Given the description of an element on the screen output the (x, y) to click on. 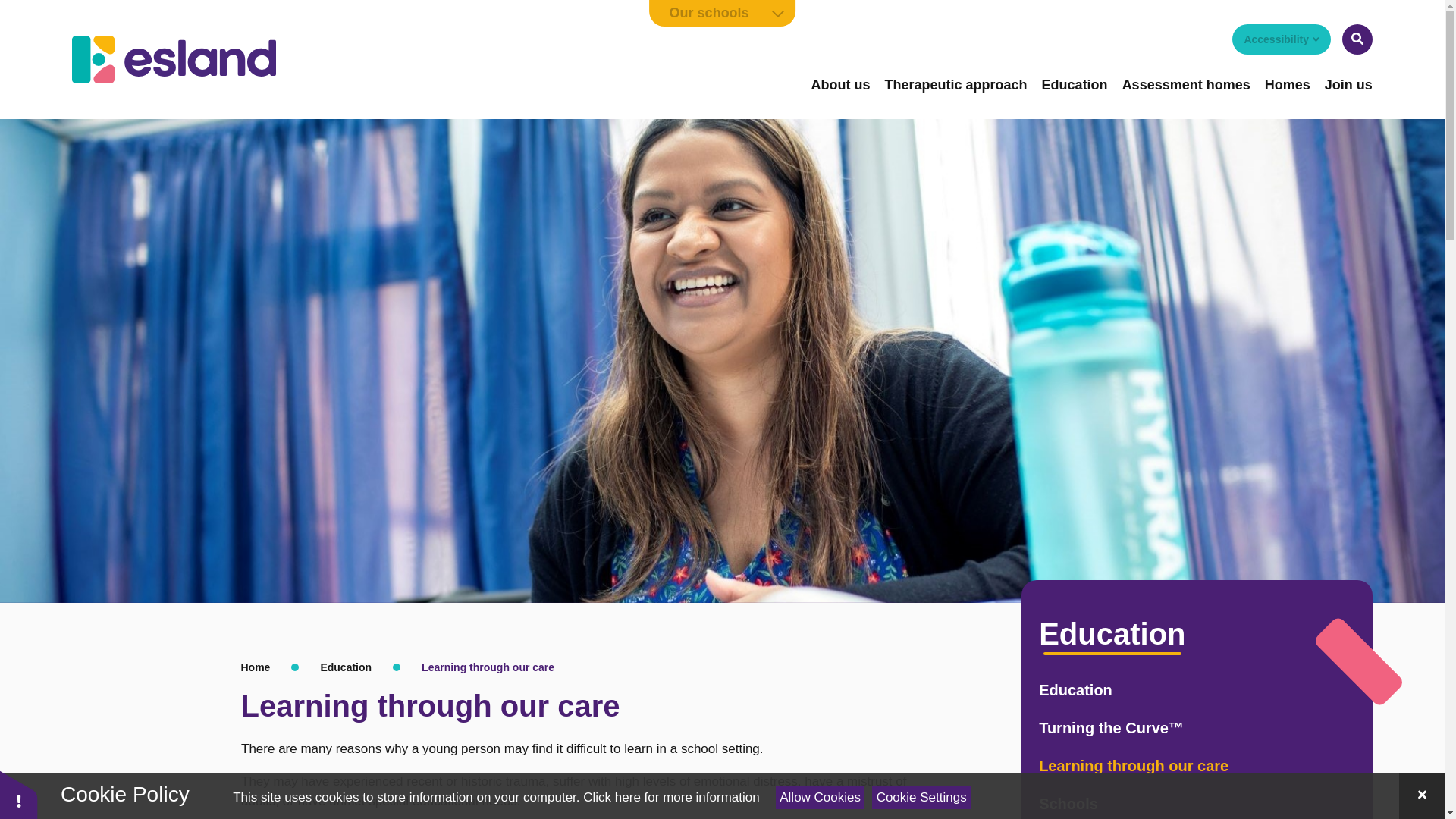
About us (840, 85)
Our schools (722, 13)
Accessibility (1280, 39)
